Given the description of an element on the screen output the (x, y) to click on. 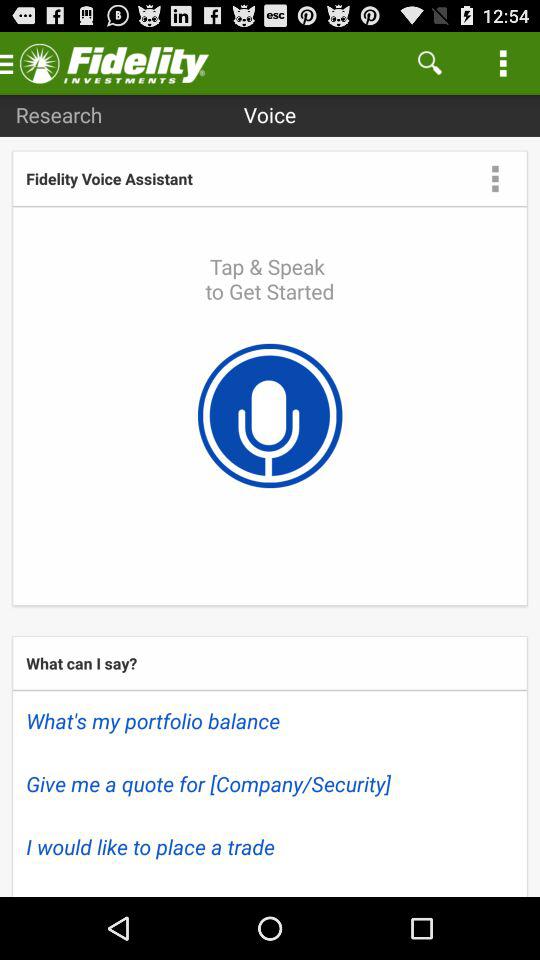
setting (495, 178)
